Given the description of an element on the screen output the (x, y) to click on. 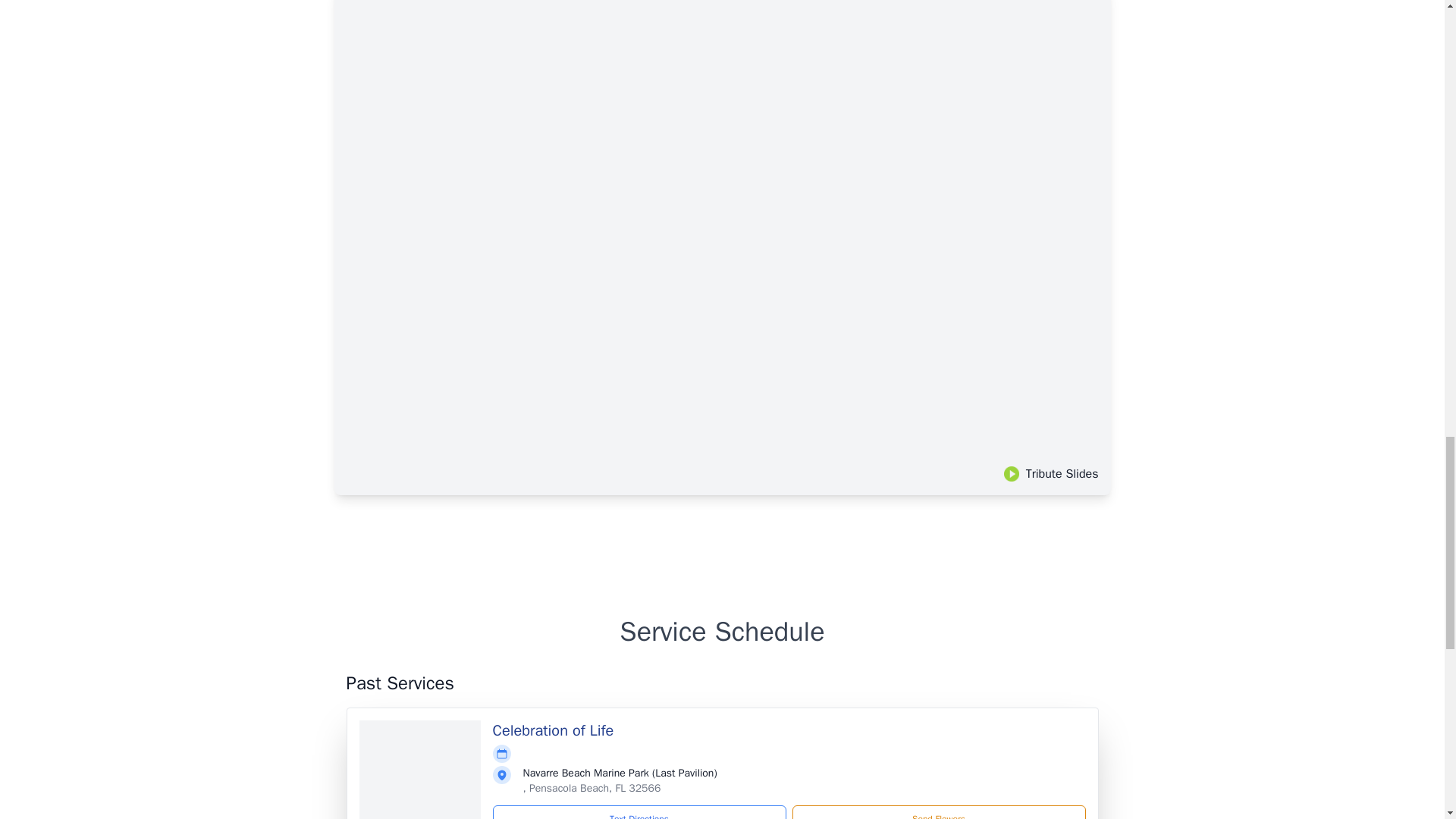
, Pensacola Beach, FL 32566 (591, 788)
Text Directions (639, 812)
Send Flowers (938, 812)
